Given the description of an element on the screen output the (x, y) to click on. 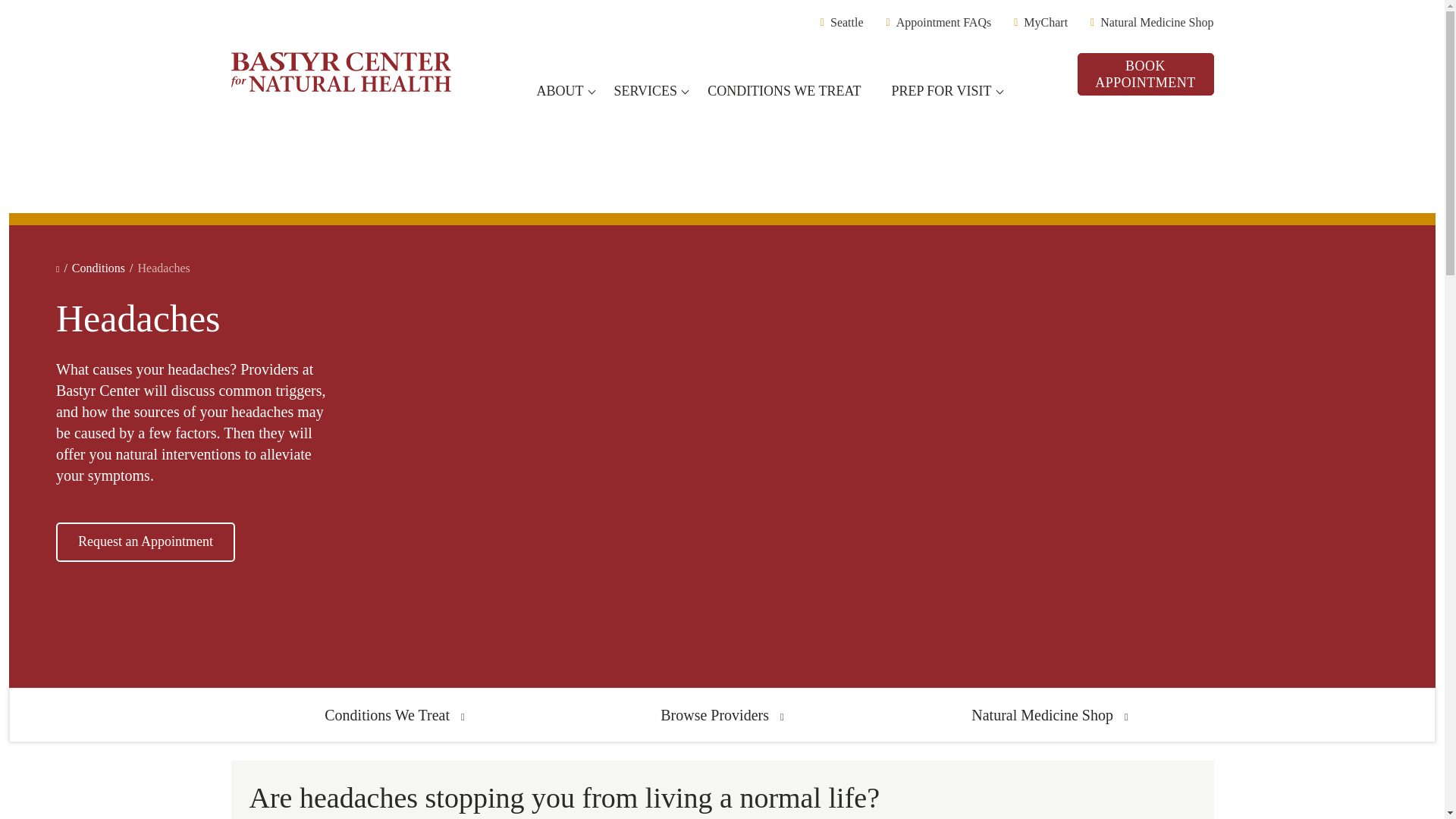
Conditions We Treat (394, 714)
Request an Appointment (145, 541)
SERVICES (651, 90)
BOOK APPOINTMENT (1144, 74)
MyChart (1040, 22)
Natural Medicine Shop (1048, 714)
Seattle (842, 22)
CONDITIONS WE TREAT (789, 90)
ABOUT (565, 90)
Browse Providers (722, 714)
